Given the description of an element on the screen output the (x, y) to click on. 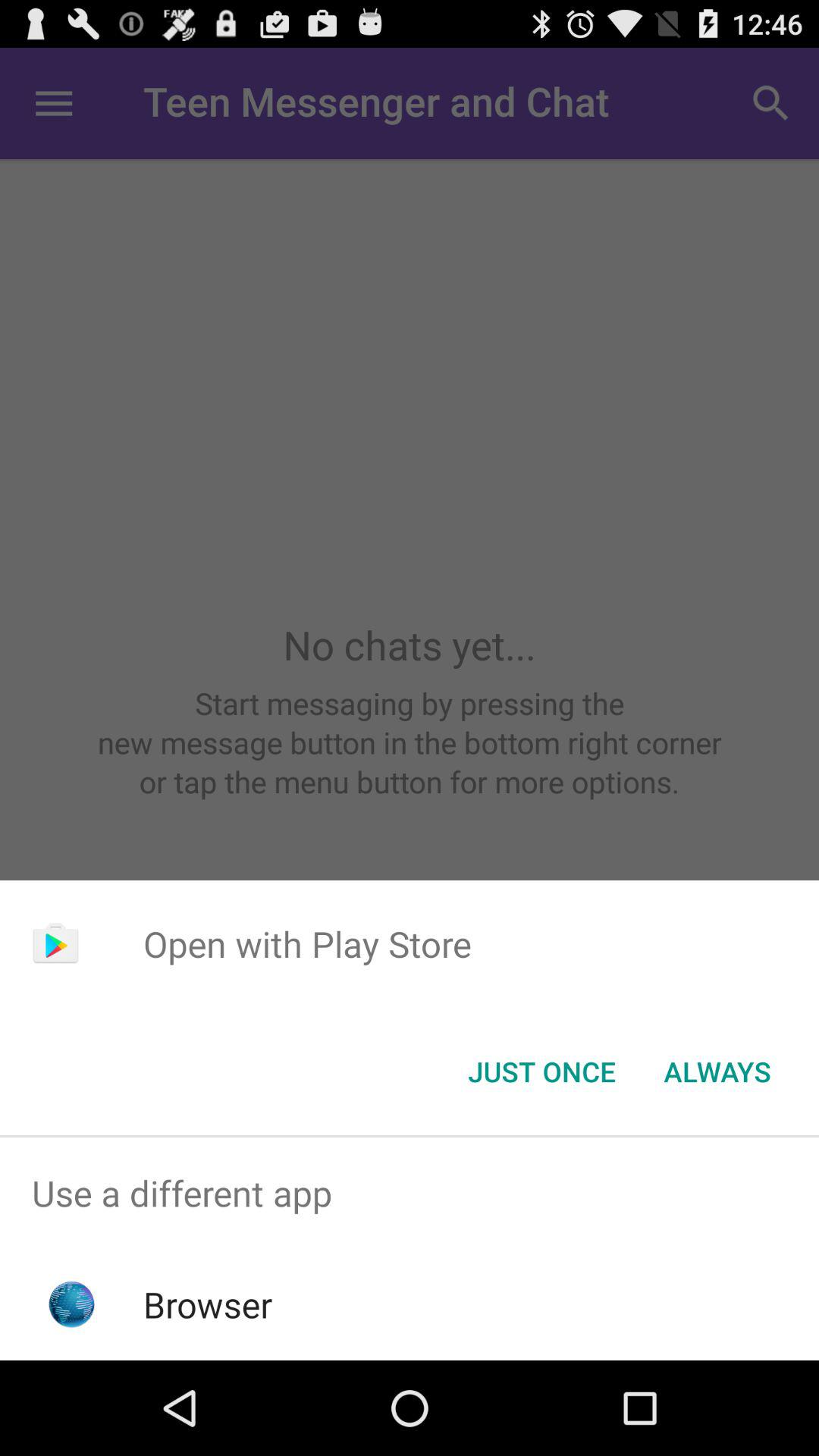
select app above the browser icon (409, 1192)
